Given the description of an element on the screen output the (x, y) to click on. 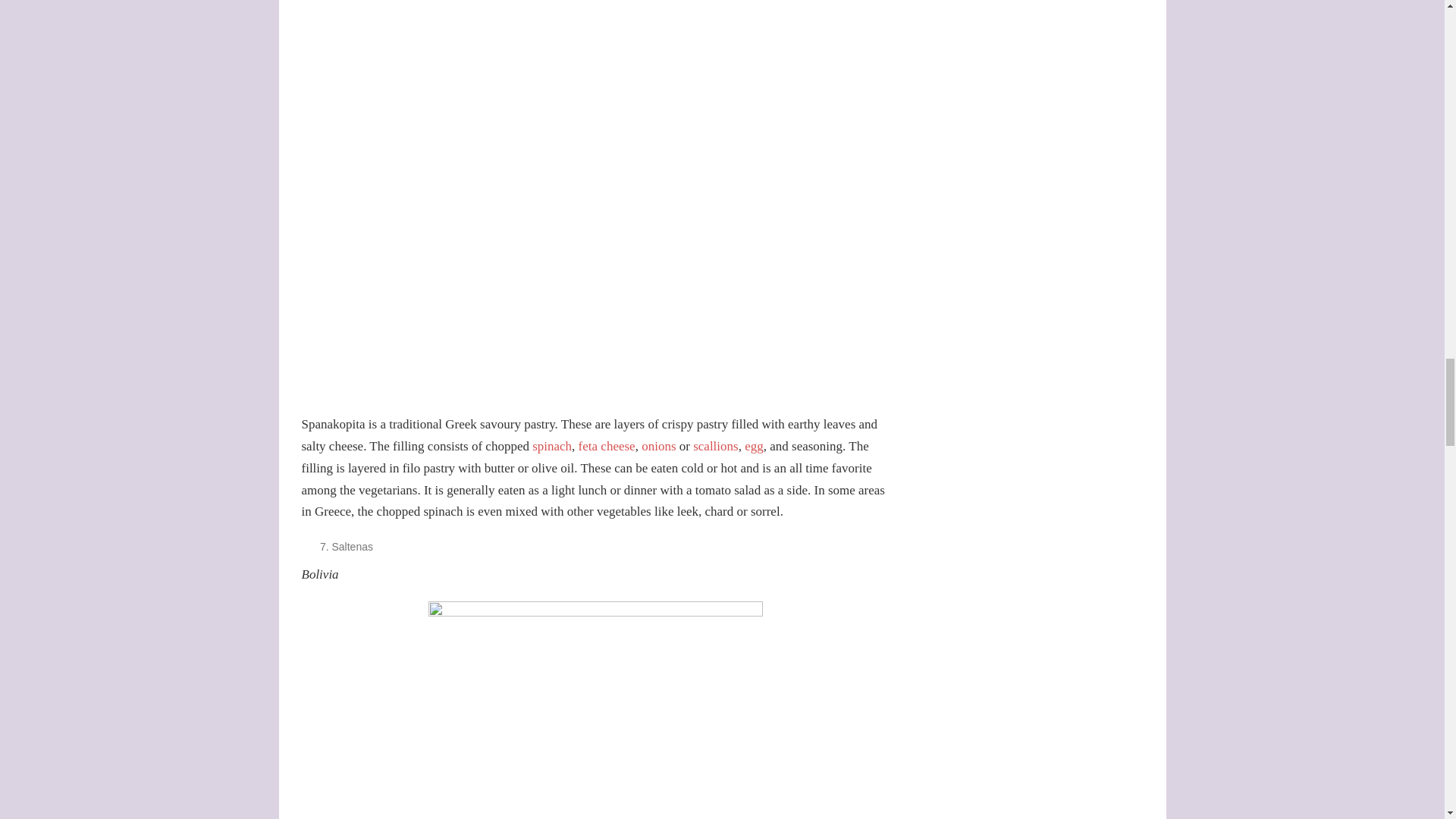
spinach (552, 445)
egg (753, 445)
feta (587, 445)
cheese (616, 445)
scallions (715, 445)
onions (658, 445)
